Given the description of an element on the screen output the (x, y) to click on. 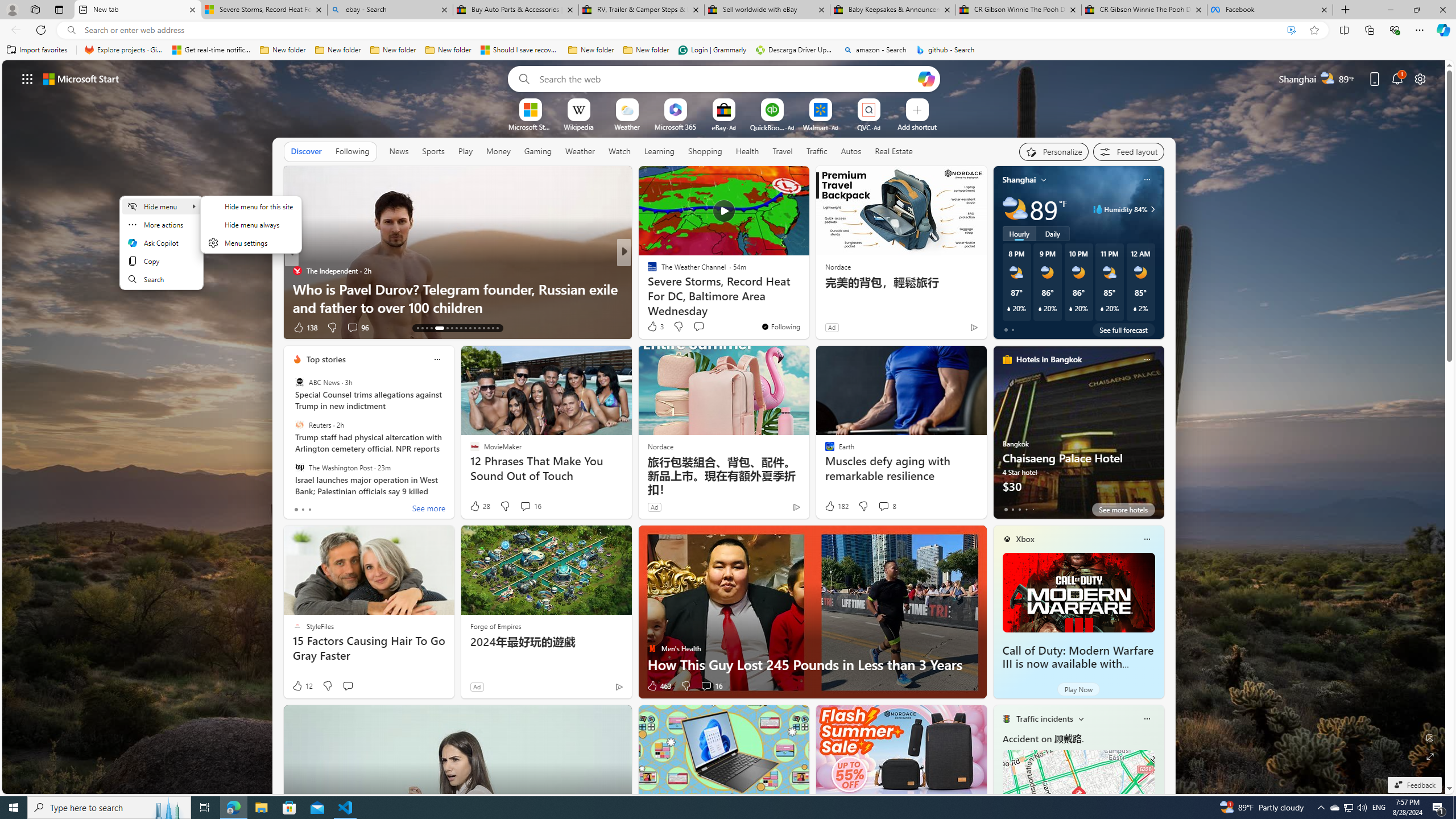
Baby Keepsakes & Announcements for sale | eBay (892, 9)
USA TODAY (647, 270)
TheStreet (647, 288)
Traffic incidents (1044, 718)
See full forecast (1123, 329)
Import favorites (36, 49)
Lonely dolphin may be behind series of attacks on swimmers (807, 298)
Class: weather-arrow-glyph (1152, 208)
Gaming (537, 151)
Ask Copilot (160, 242)
